Given the description of an element on the screen output the (x, y) to click on. 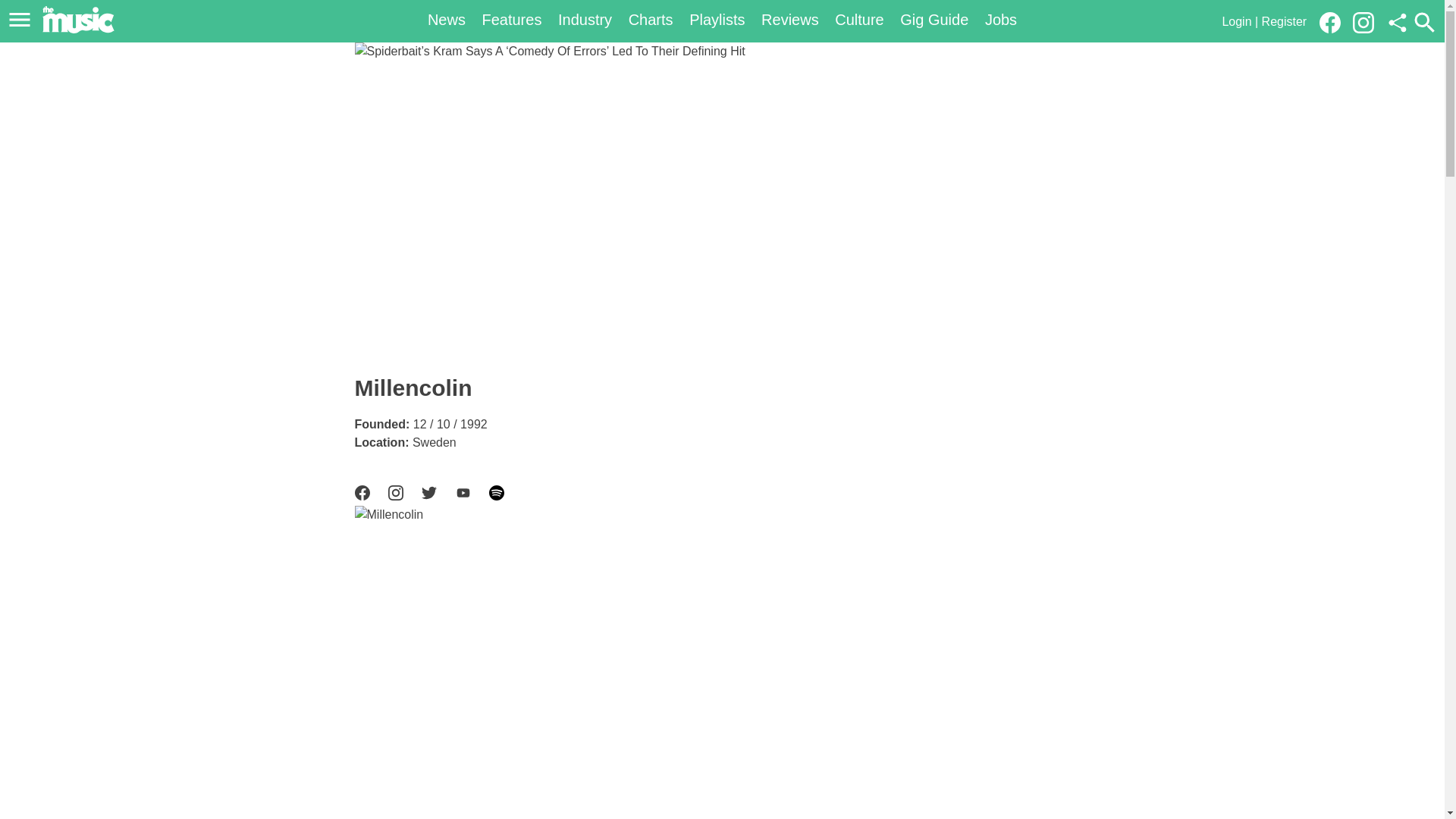
Register (1284, 21)
Link to our Facebook (1329, 22)
Open the site search menu (1424, 22)
Open the site search menu (1424, 22)
Login (1235, 21)
Jobs (1000, 19)
Charts (650, 19)
Features (511, 19)
Link to our Facebook (1334, 21)
Share this page (1397, 22)
Open the main menu (22, 19)
Link to our Instagram (1363, 22)
Playlists (716, 19)
Share this page (1397, 22)
Link to our Instagram (1367, 21)
